Given the description of an element on the screen output the (x, y) to click on. 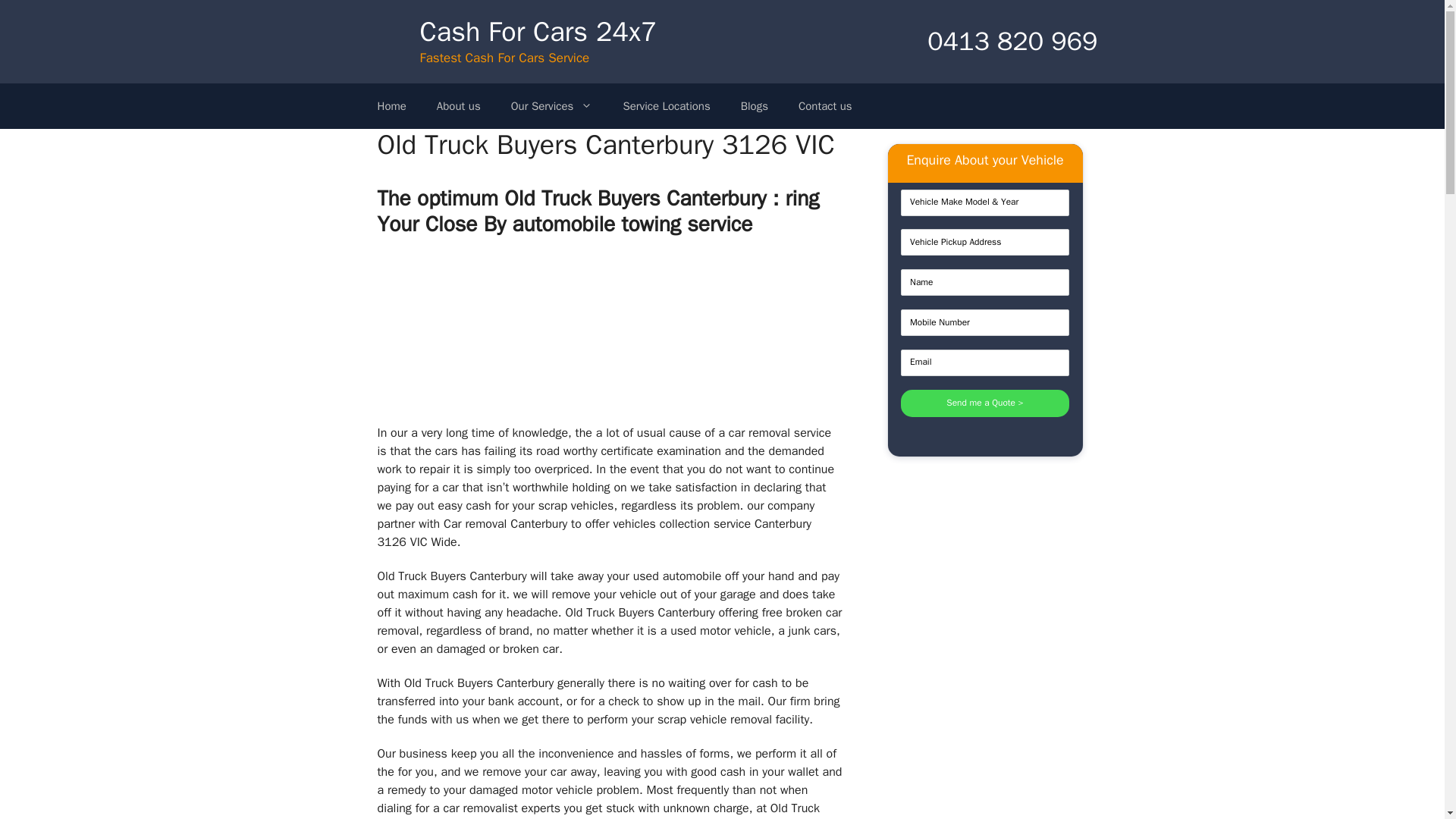
Home (392, 105)
Cash For Cars 24x7 (539, 31)
Blogs (754, 105)
Service Locations (666, 105)
Old Truck Buyers Canterbury 3126 VIC 1 (610, 334)
Contact us (825, 105)
0413 820 969 (993, 41)
About us (459, 105)
Our Services (552, 105)
